Given the description of an element on the screen output the (x, y) to click on. 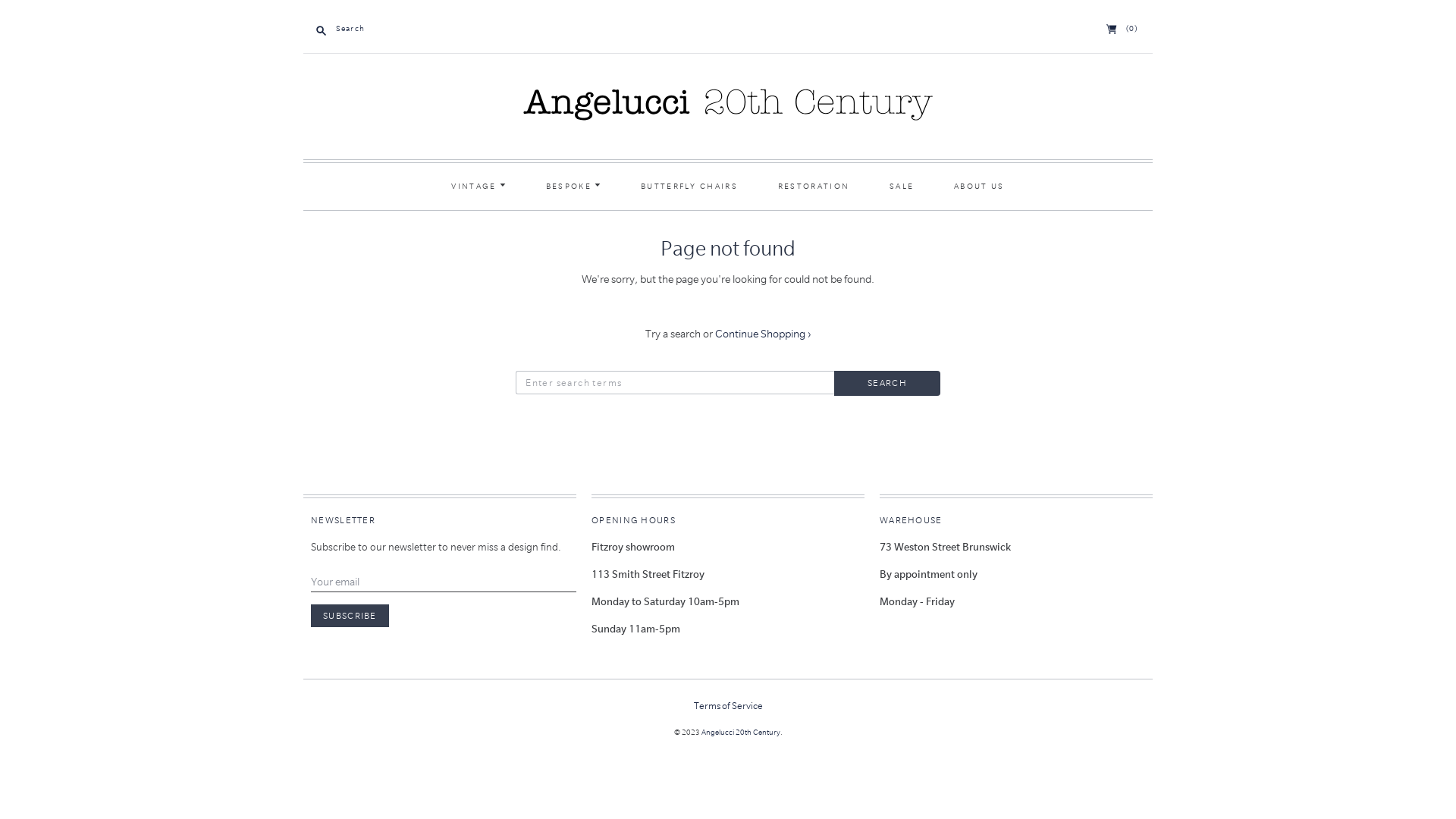
ABOUT US Element type: text (979, 186)
SALE Element type: text (901, 186)
Search Element type: text (887, 383)
Angelucci 20th Century Element type: text (739, 732)
BESPOKE Element type: text (573, 186)
RESTORATION Element type: text (813, 186)
Terms of Service Element type: text (727, 705)
BUTTERFLY CHAIRS Element type: text (689, 186)
VINTAGE Element type: text (478, 186)
(0) Element type: text (1122, 28)
SUBSCRIBE Element type: text (349, 615)
